Given the description of an element on the screen output the (x, y) to click on. 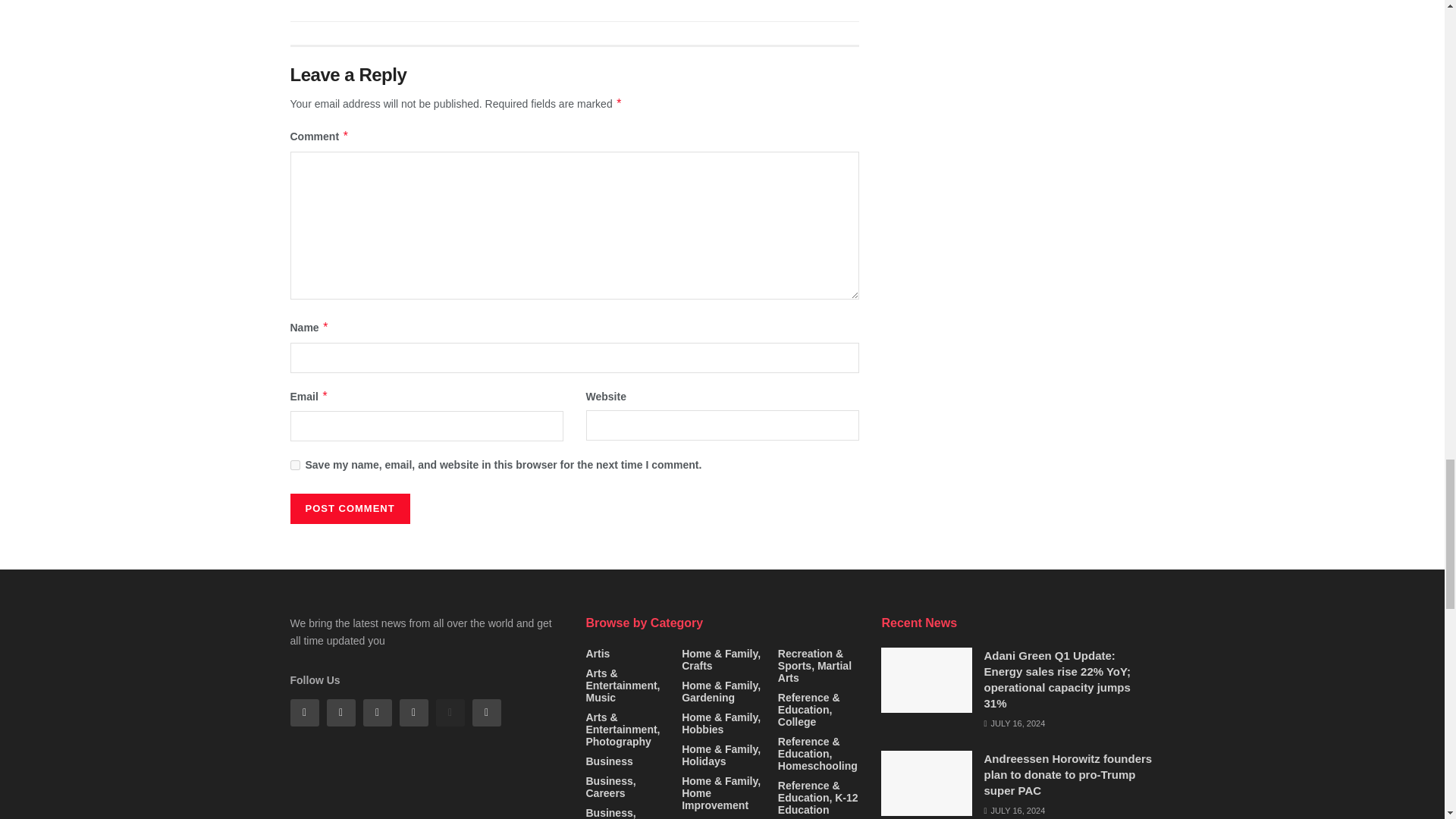
Post Comment (349, 508)
yes (294, 465)
